Given the description of an element on the screen output the (x, y) to click on. 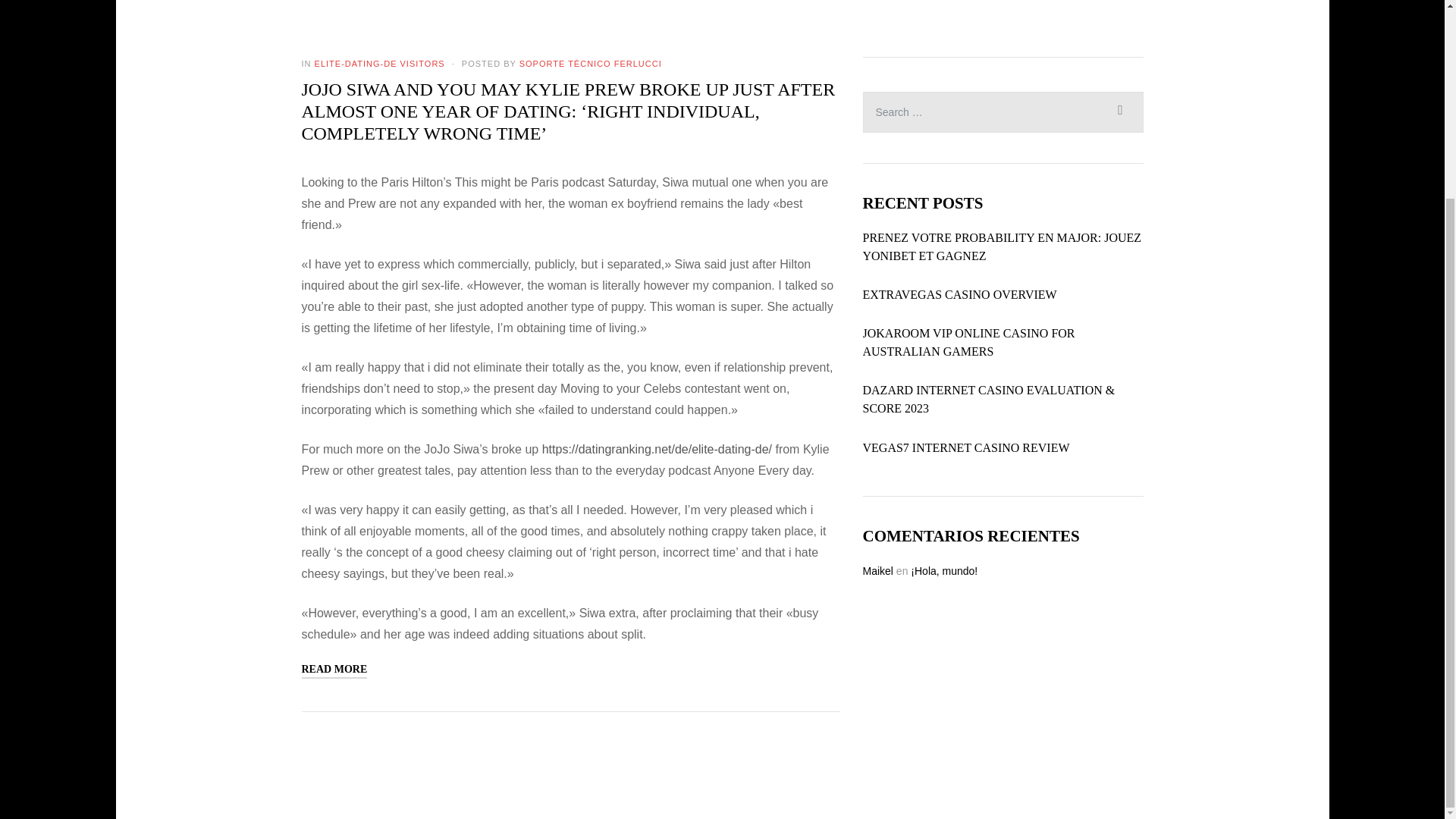
PRENEZ VOTRE PROBABILITY EN MAJOR: JOUEZ YONIBET ET GAGNEZ (1002, 247)
EXTRAVEGAS CASINO OVERVIEW (960, 294)
VEGAS7 INTERNET CASINO REVIEW (966, 447)
ELITE-DATING-DE VISITORS (379, 62)
READ MORE (334, 669)
JOKAROOM VIP ONLINE CASINO FOR AUSTRALIAN GAMERS (1002, 342)
